Given the description of an element on the screen output the (x, y) to click on. 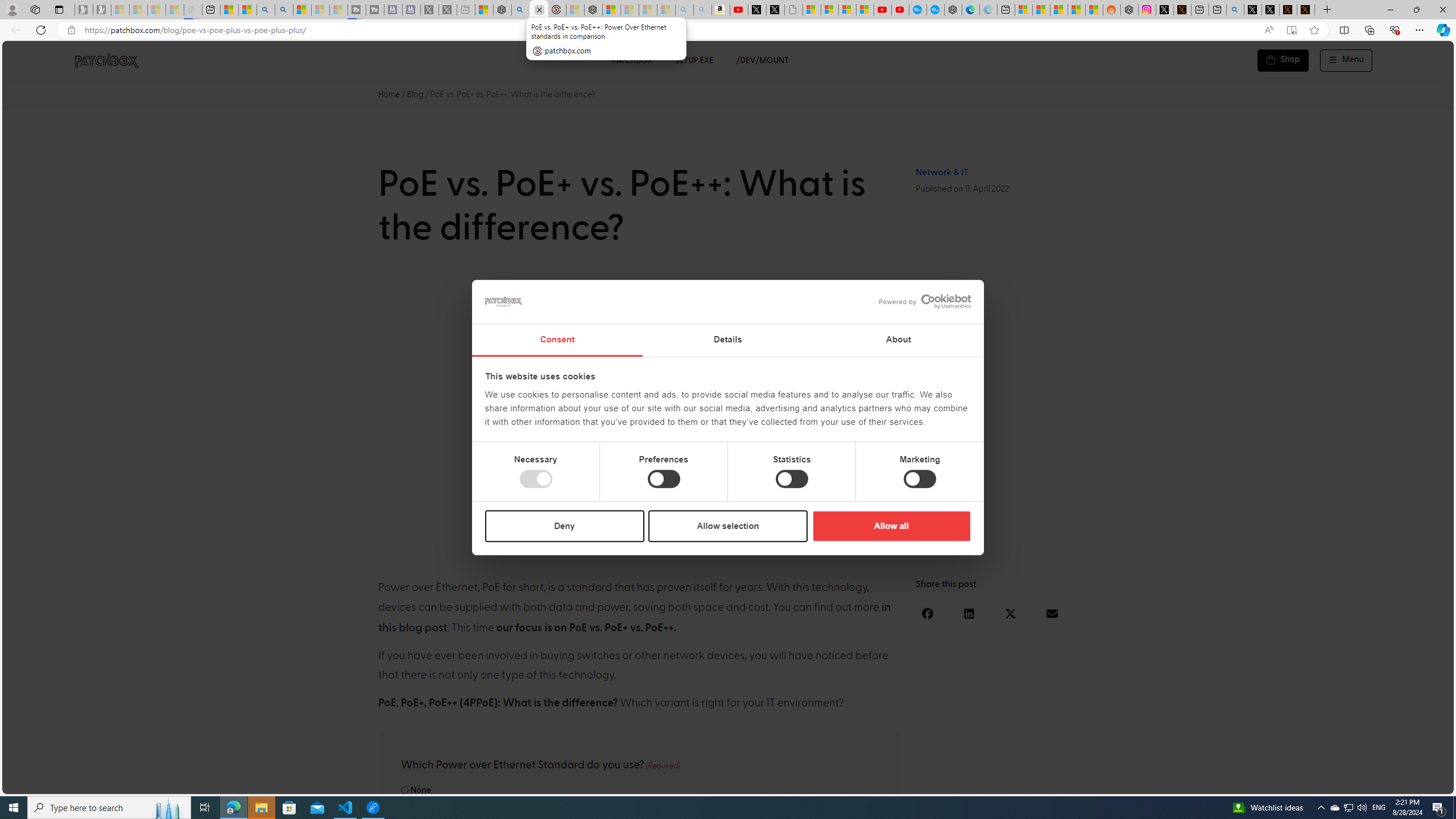
Share on linkedin (968, 613)
logo - opens in a new window (920, 301)
Share on facebook (927, 613)
Language switcher : Finnish (1391, 782)
Details (727, 340)
Profile / X (1252, 9)
Necessary (535, 479)
Language switcher : Slovenian (1333, 782)
